Given the description of an element on the screen output the (x, y) to click on. 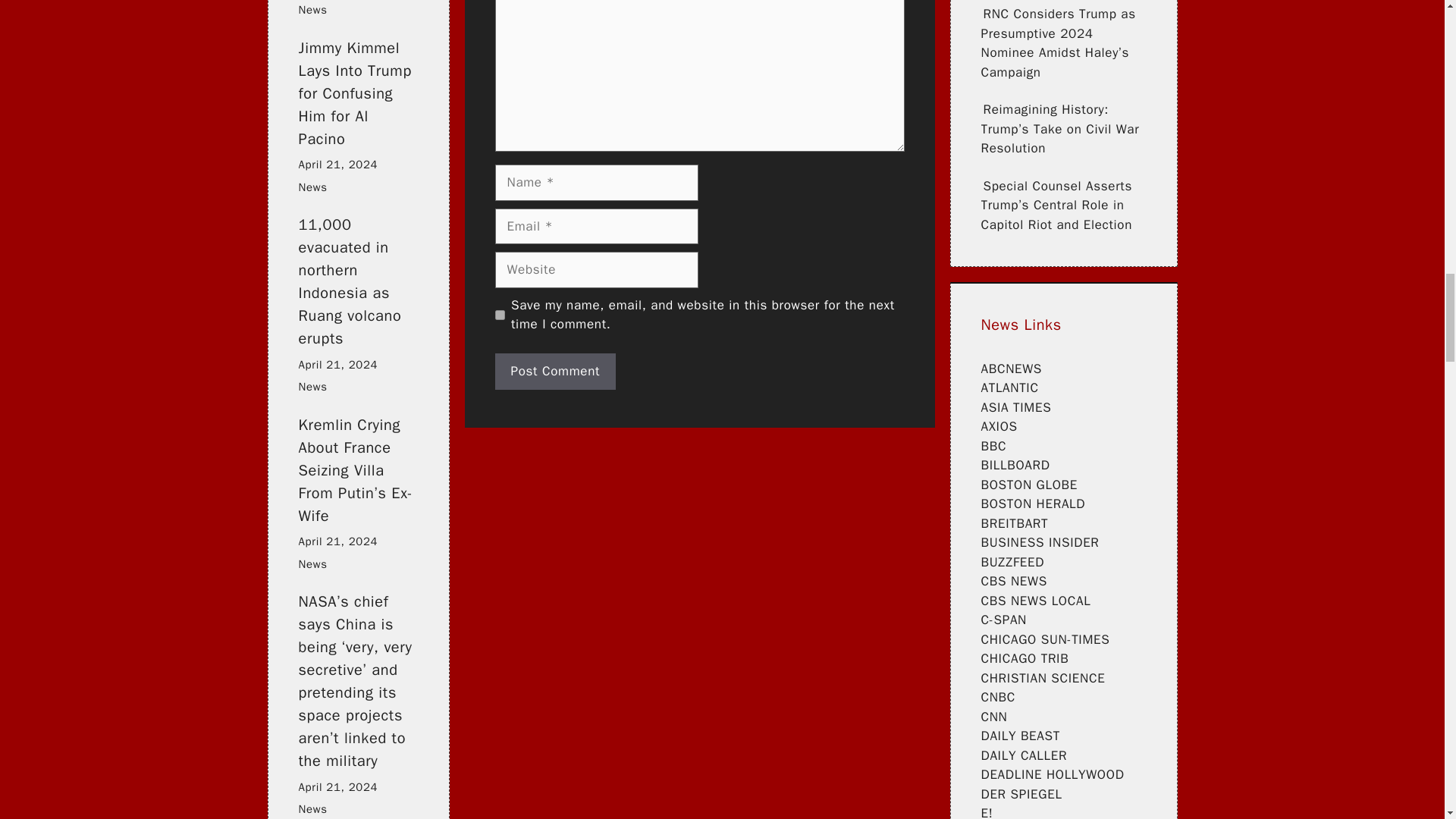
yes (499, 315)
Post Comment (555, 370)
